Given the description of an element on the screen output the (x, y) to click on. 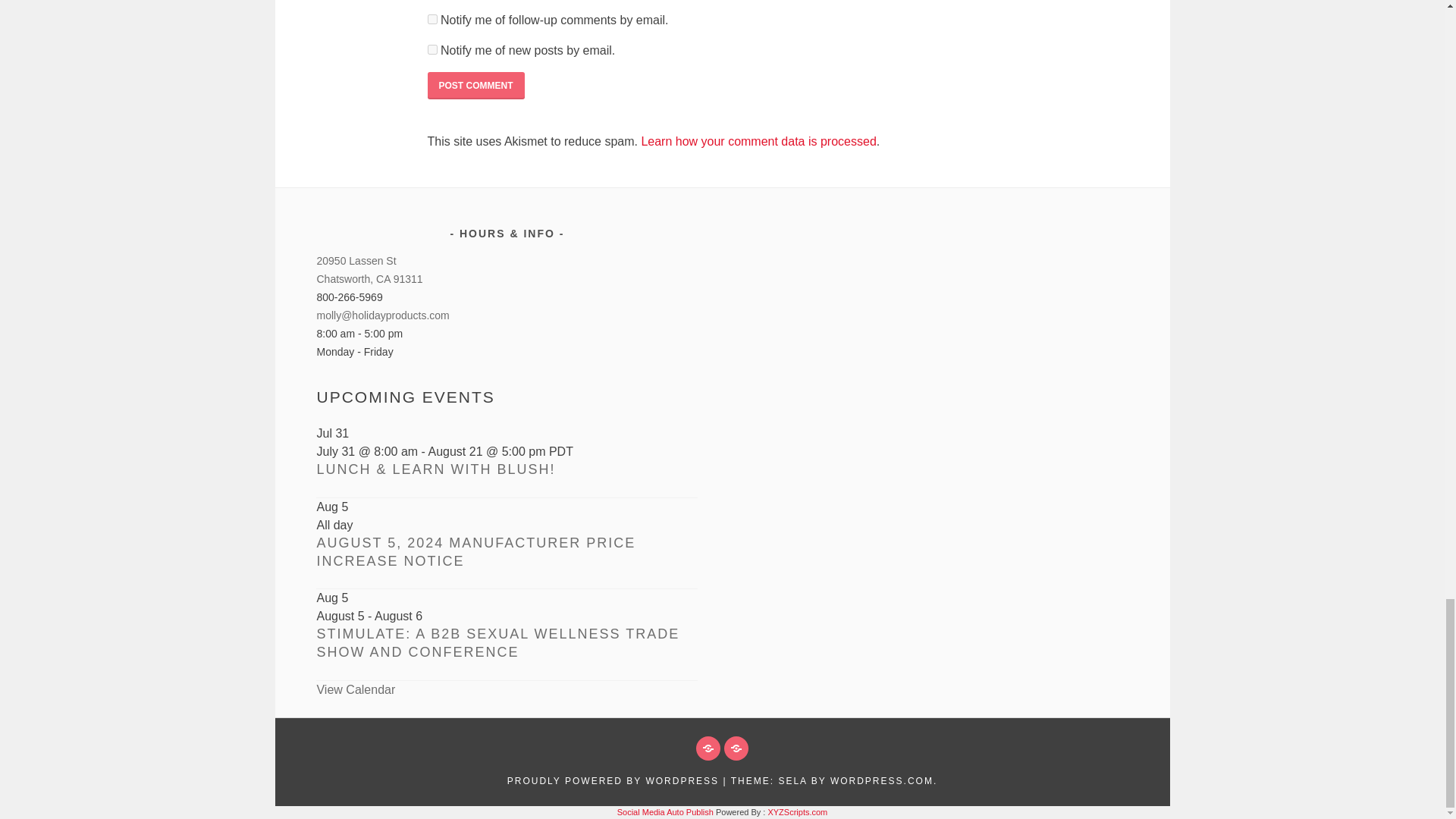
Post Comment (476, 85)
STIMULATE: A B2B Sexual Wellness Trade Show and Conference (497, 643)
Learn how your comment data is processed (758, 141)
subscribe (433, 49)
Post Comment (476, 85)
A Semantic Personal Publishing Platform (612, 780)
View more events. (354, 689)
August 5, 2024 Manufacturer Price Increase Notice (474, 551)
subscribe (433, 19)
Social Media Auto Publish (665, 811)
